Given the description of an element on the screen output the (x, y) to click on. 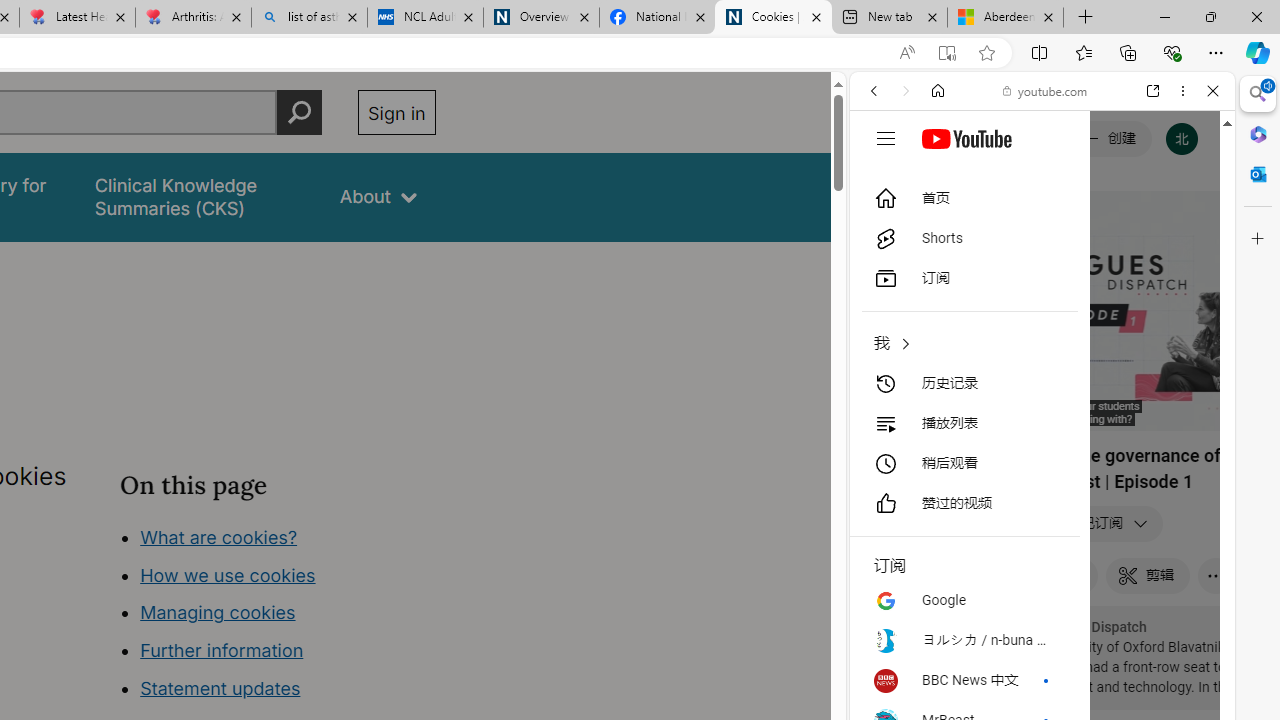
NCL Adult Asthma Inhaler Choice Guideline (424, 17)
